Given the description of an element on the screen output the (x, y) to click on. 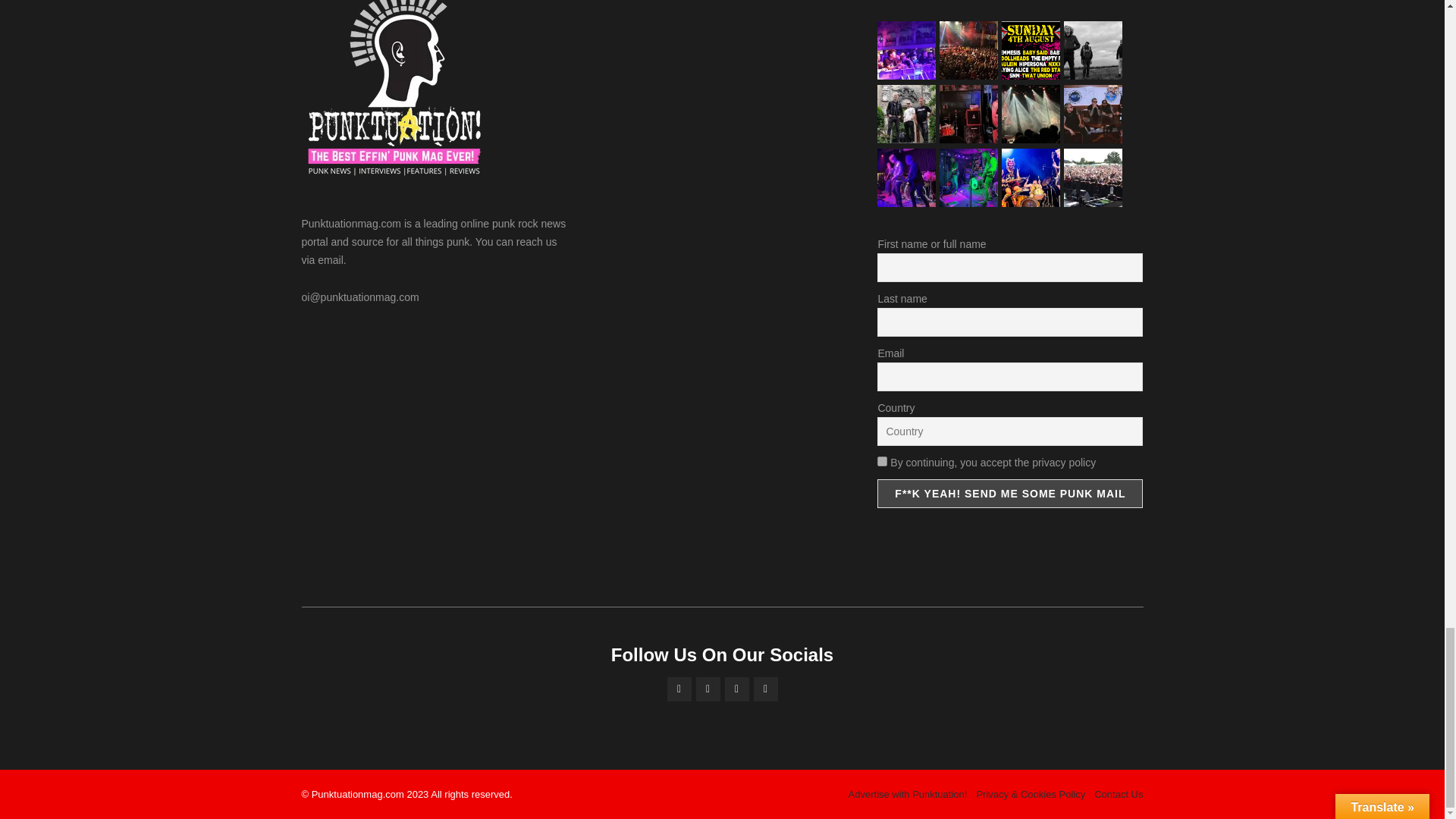
on (881, 461)
